Given the description of an element on the screen output the (x, y) to click on. 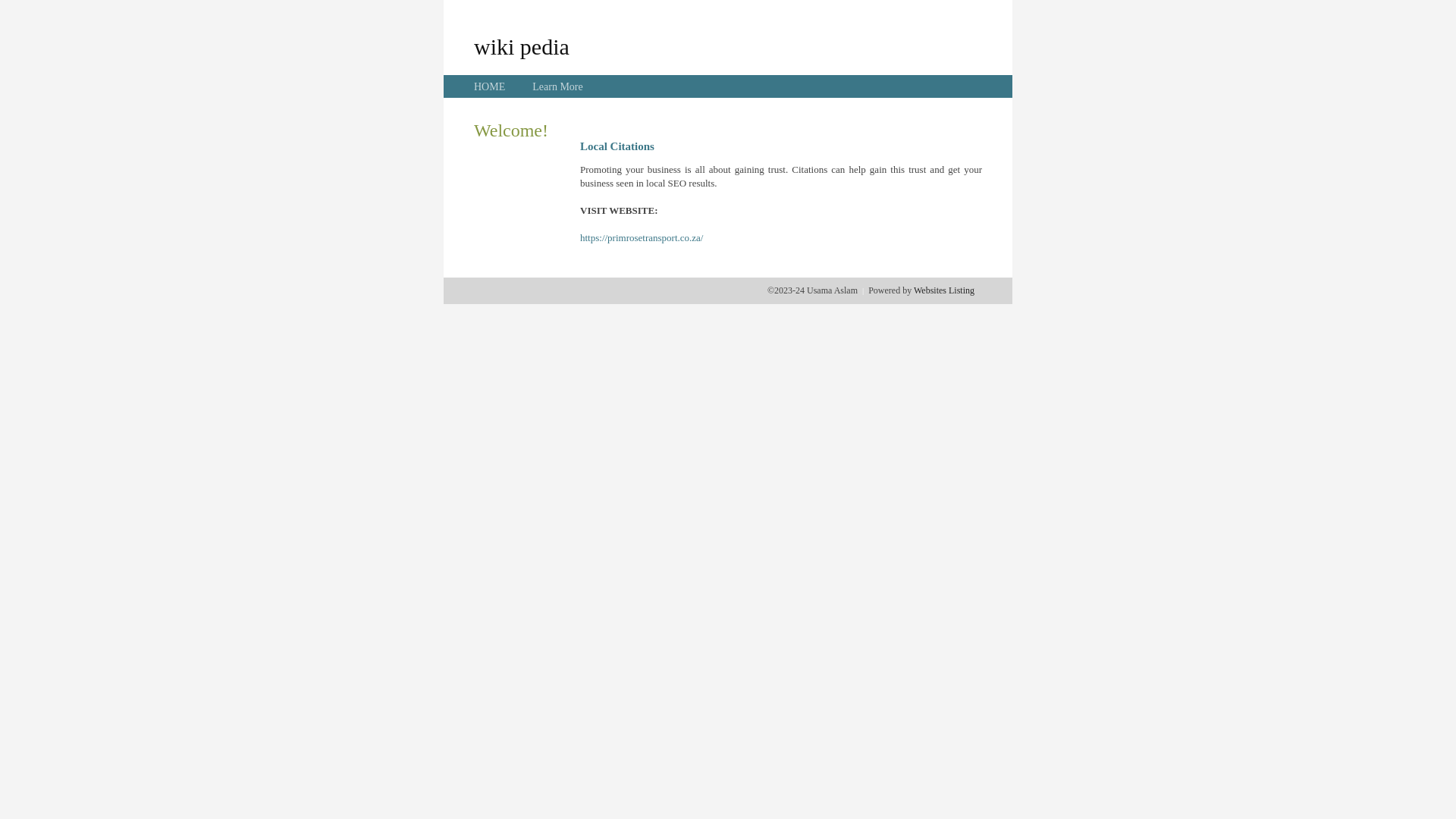
Websites Listing Element type: text (943, 290)
wiki pedia Element type: text (521, 46)
Learn More Element type: text (557, 86)
https://primrosetransport.co.za/ Element type: text (641, 237)
HOME Element type: text (489, 86)
